Given the description of an element on the screen output the (x, y) to click on. 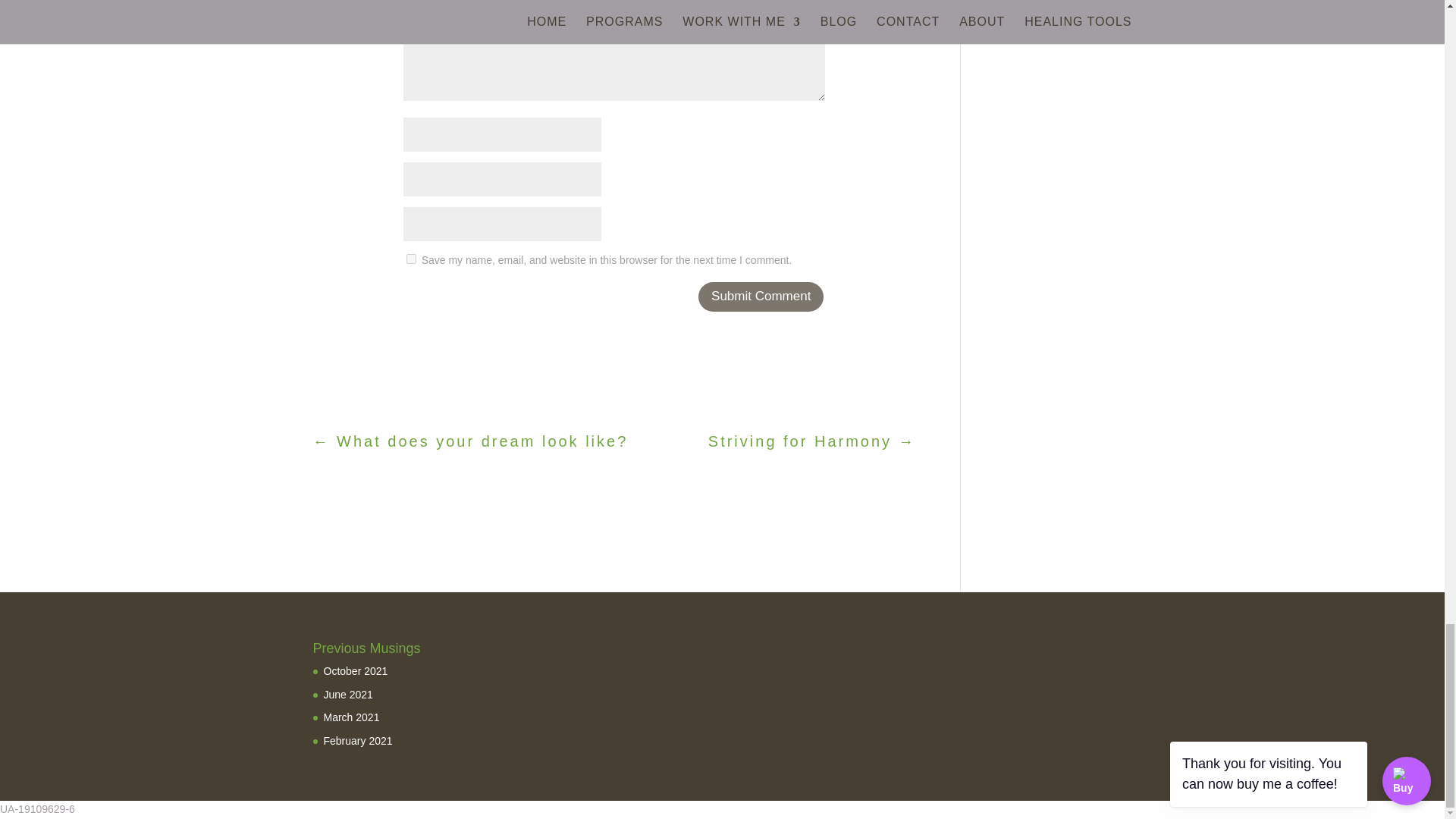
yes (411, 258)
